Given the description of an element on the screen output the (x, y) to click on. 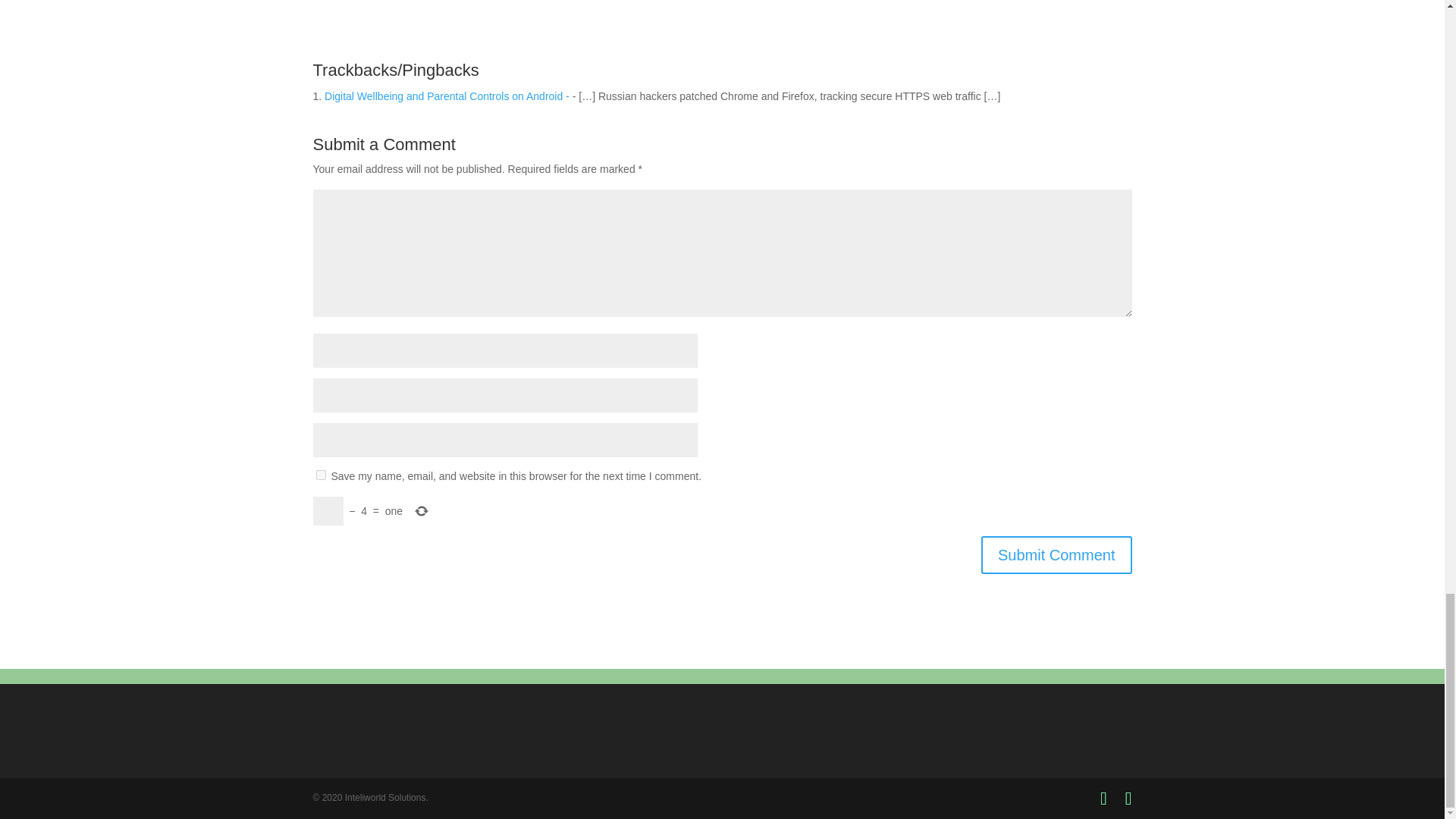
yes (319, 474)
Submit Comment (1056, 555)
